Given the description of an element on the screen output the (x, y) to click on. 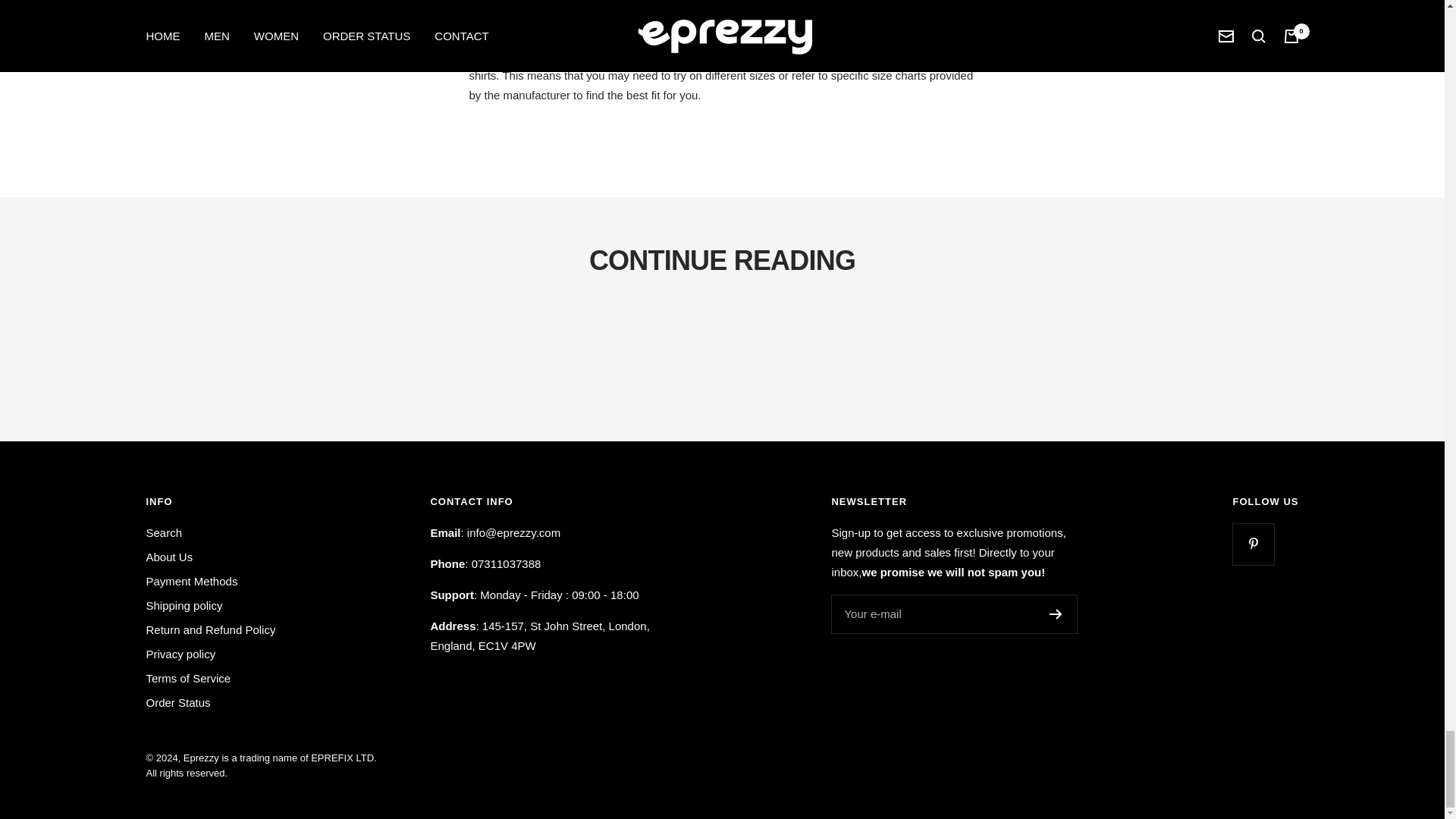
Register (1055, 614)
Shipping policy (183, 605)
Payment Methods (191, 581)
Return and Refund Policy (210, 629)
About Us (168, 557)
Search (163, 532)
